Given the description of an element on the screen output the (x, y) to click on. 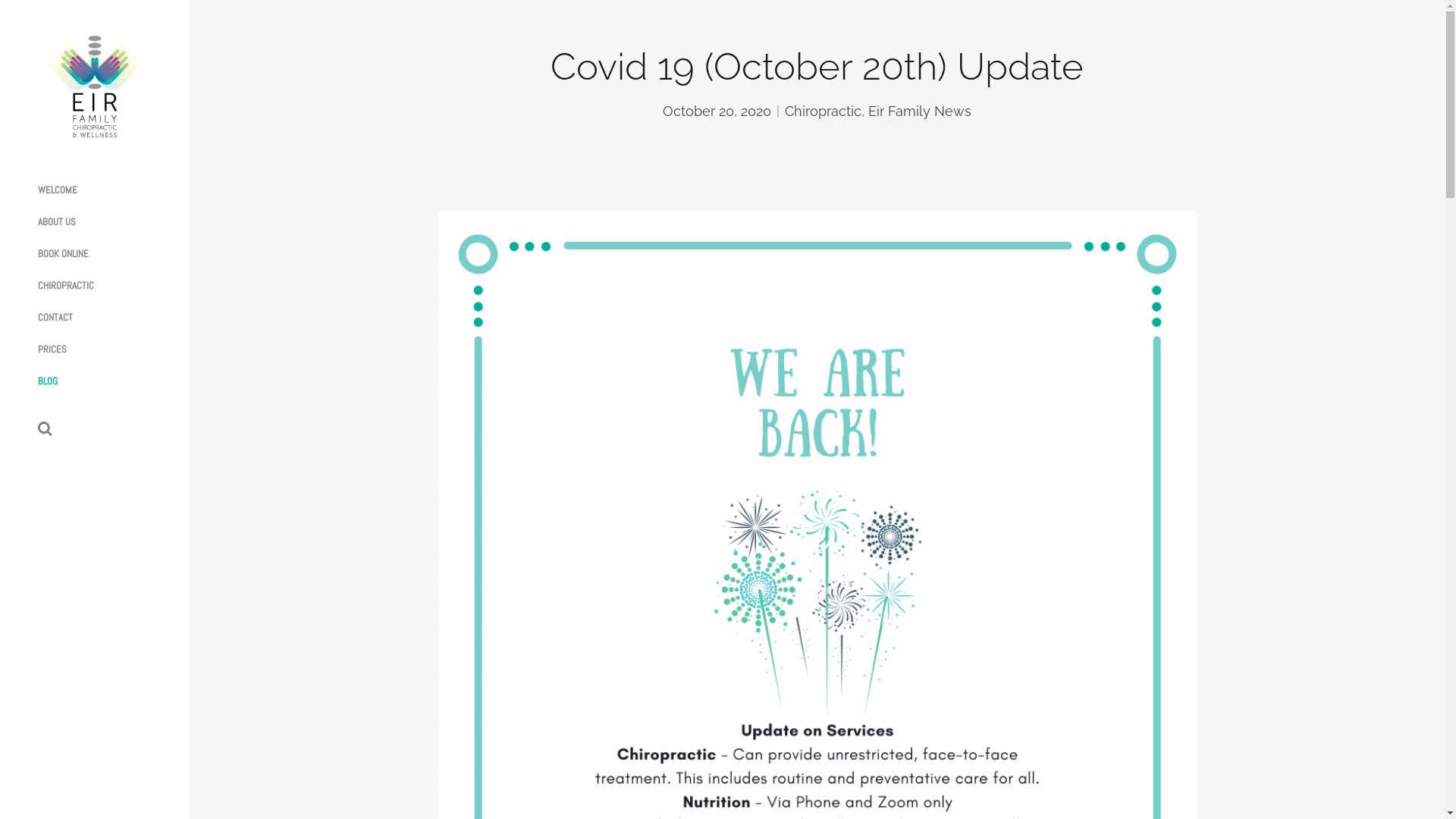
ABOUT US Element type: text (56, 222)
Chiropractic Element type: text (822, 111)
WELCOME Element type: text (57, 190)
CHIROPRACTIC Element type: text (65, 285)
BLOG Element type: text (47, 381)
CONTACT Element type: text (55, 317)
Eir Family News Element type: text (919, 111)
BOOK ONLINE Element type: text (63, 253)
PRICES Element type: text (52, 349)
